Given the description of an element on the screen output the (x, y) to click on. 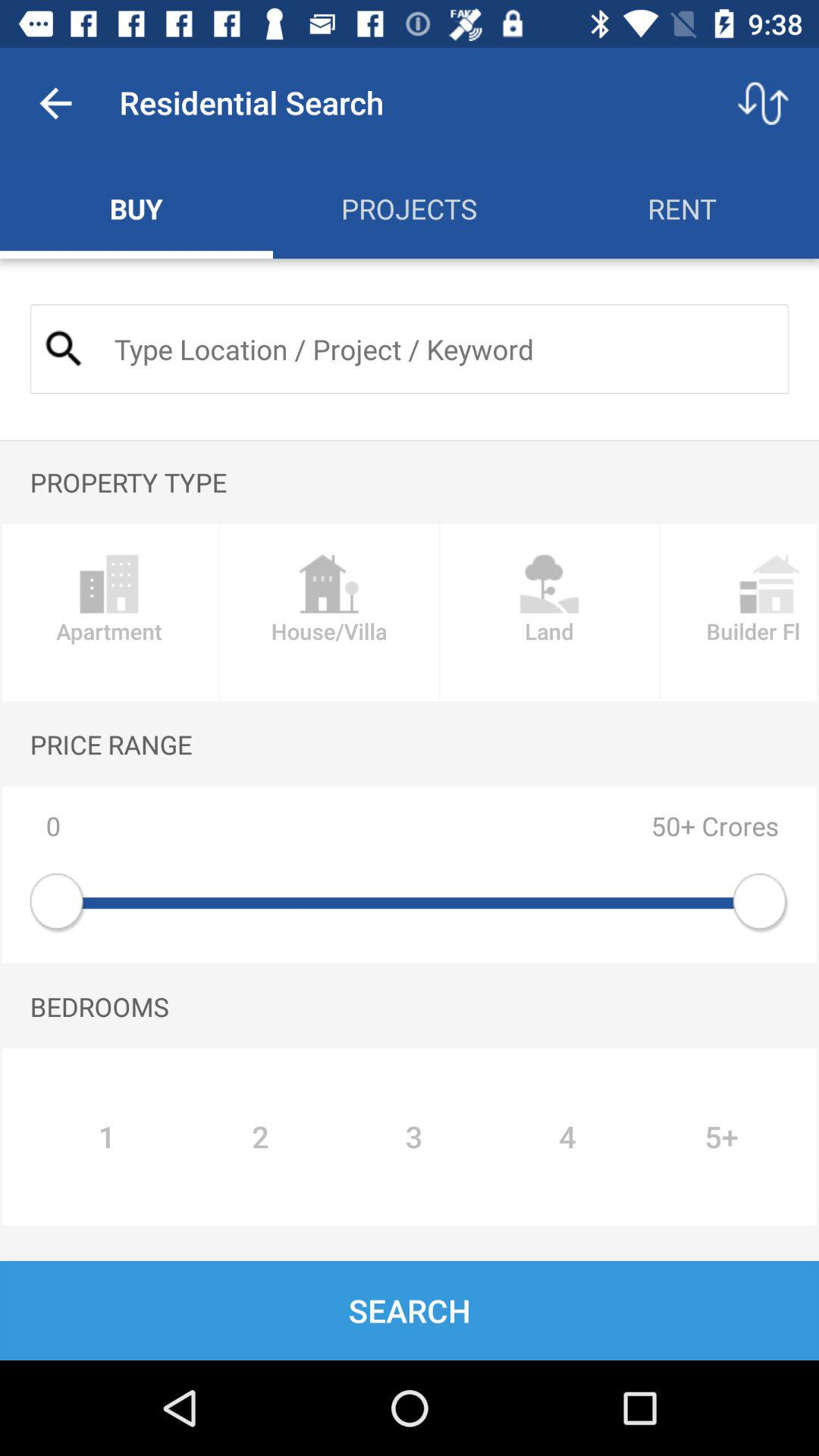
press the icon to the right of 1 (260, 1137)
